Given the description of an element on the screen output the (x, y) to click on. 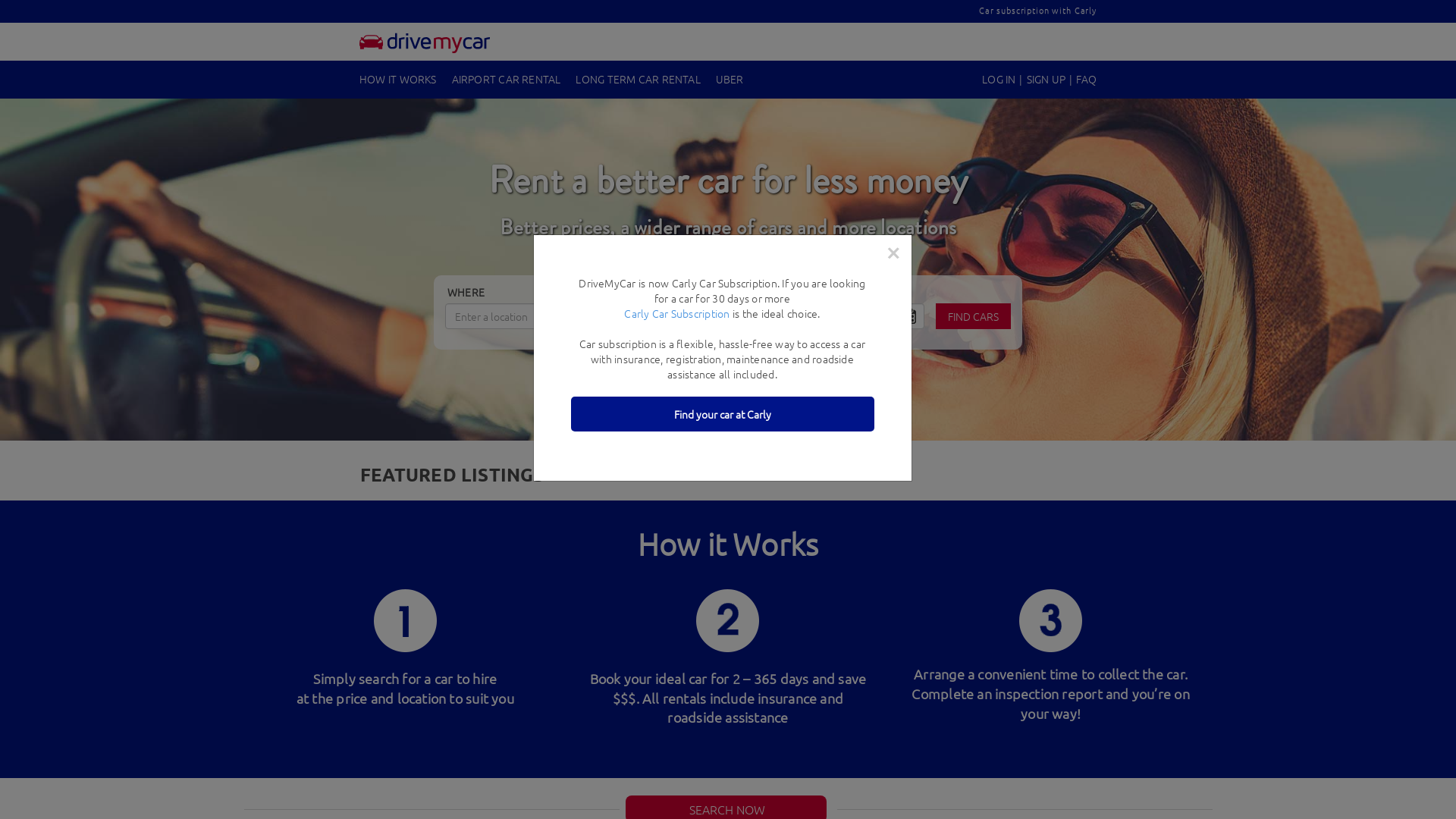
Find your car at Carly Element type: text (721, 413)
Car subscription with Carly Element type: text (1041, 8)
Carly Car Subscription Element type: text (676, 312)
FAQ Element type: text (1090, 78)
HOW IT WORKS Element type: text (397, 78)
Find cars Element type: text (972, 316)
Long term car hire Element type: hover (424, 42)
LONG TERM CAR RENTAL Element type: text (637, 78)
| Element type: text (1070, 78)
| Element type: text (1020, 78)
UBER Element type: text (729, 78)
AIRPORT CAR RENTAL Element type: text (506, 78)
